Given the description of an element on the screen output the (x, y) to click on. 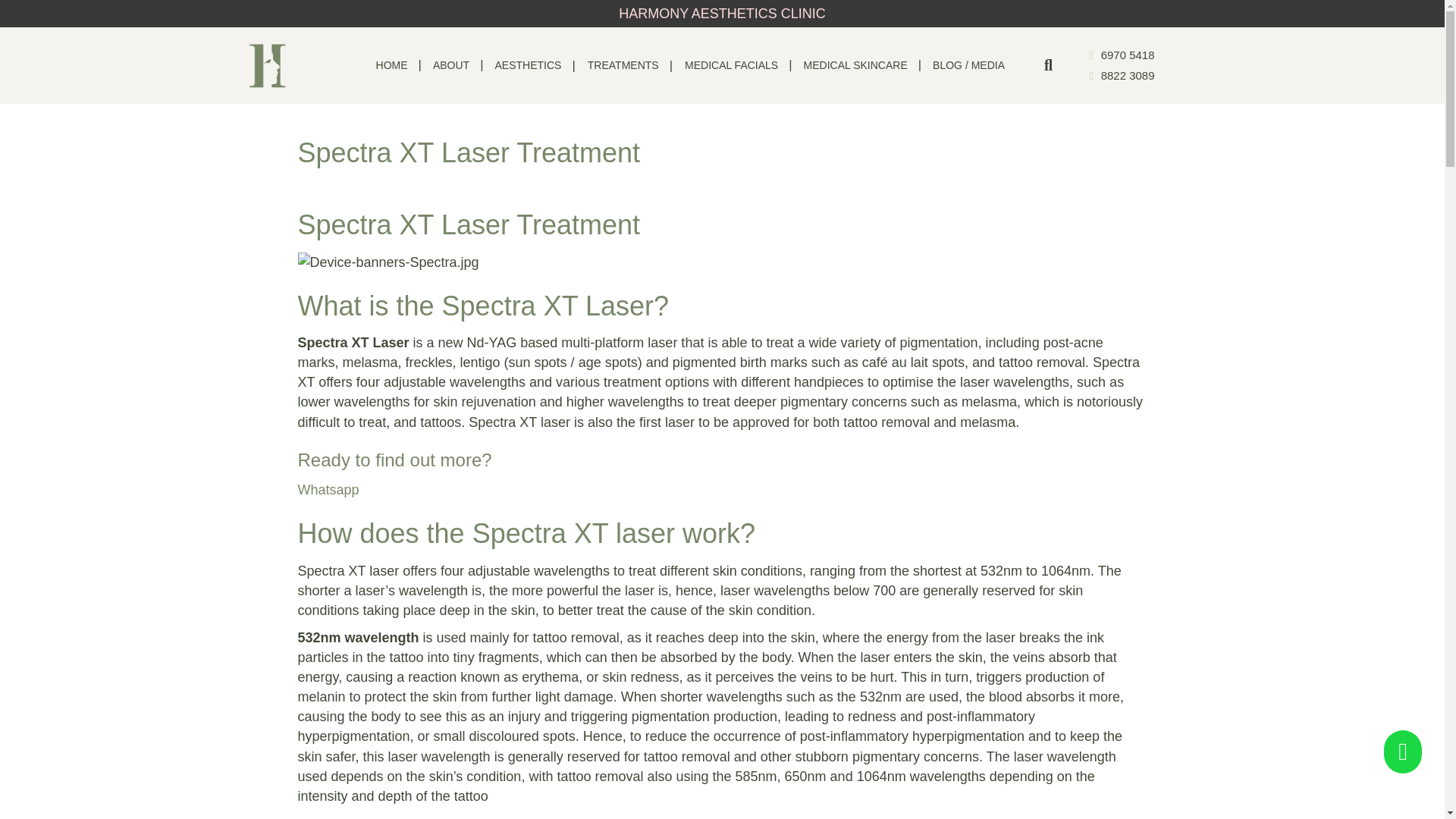
Device-banners-Spectra.jpg (388, 261)
AESTHETICS (530, 64)
